Given the description of an element on the screen output the (x, y) to click on. 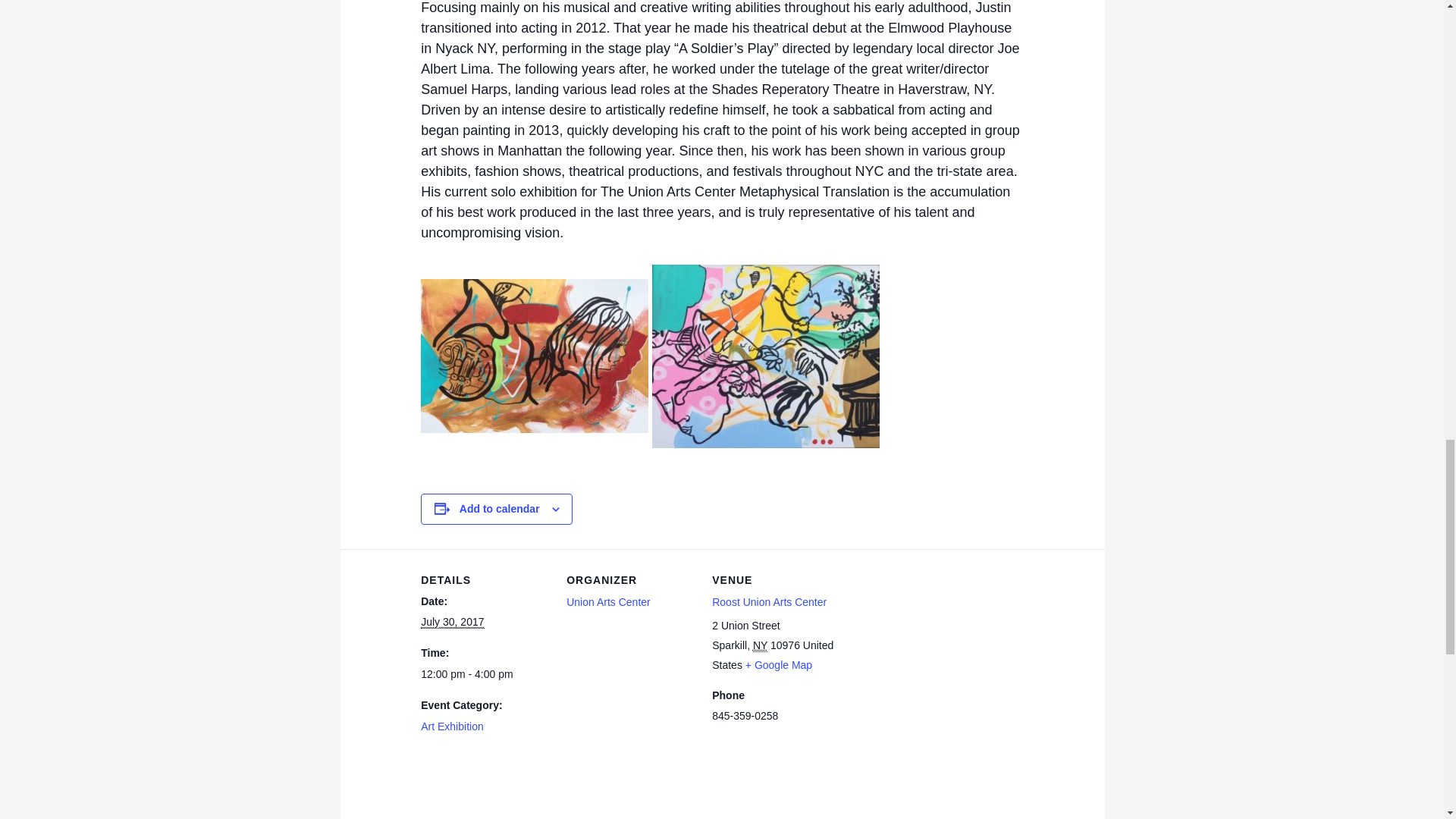
New York (759, 645)
Union Arts Center (608, 602)
2017-07-30 (484, 674)
Click to view a Google Map (778, 664)
2017-07-30 (451, 621)
